Given the description of an element on the screen output the (x, y) to click on. 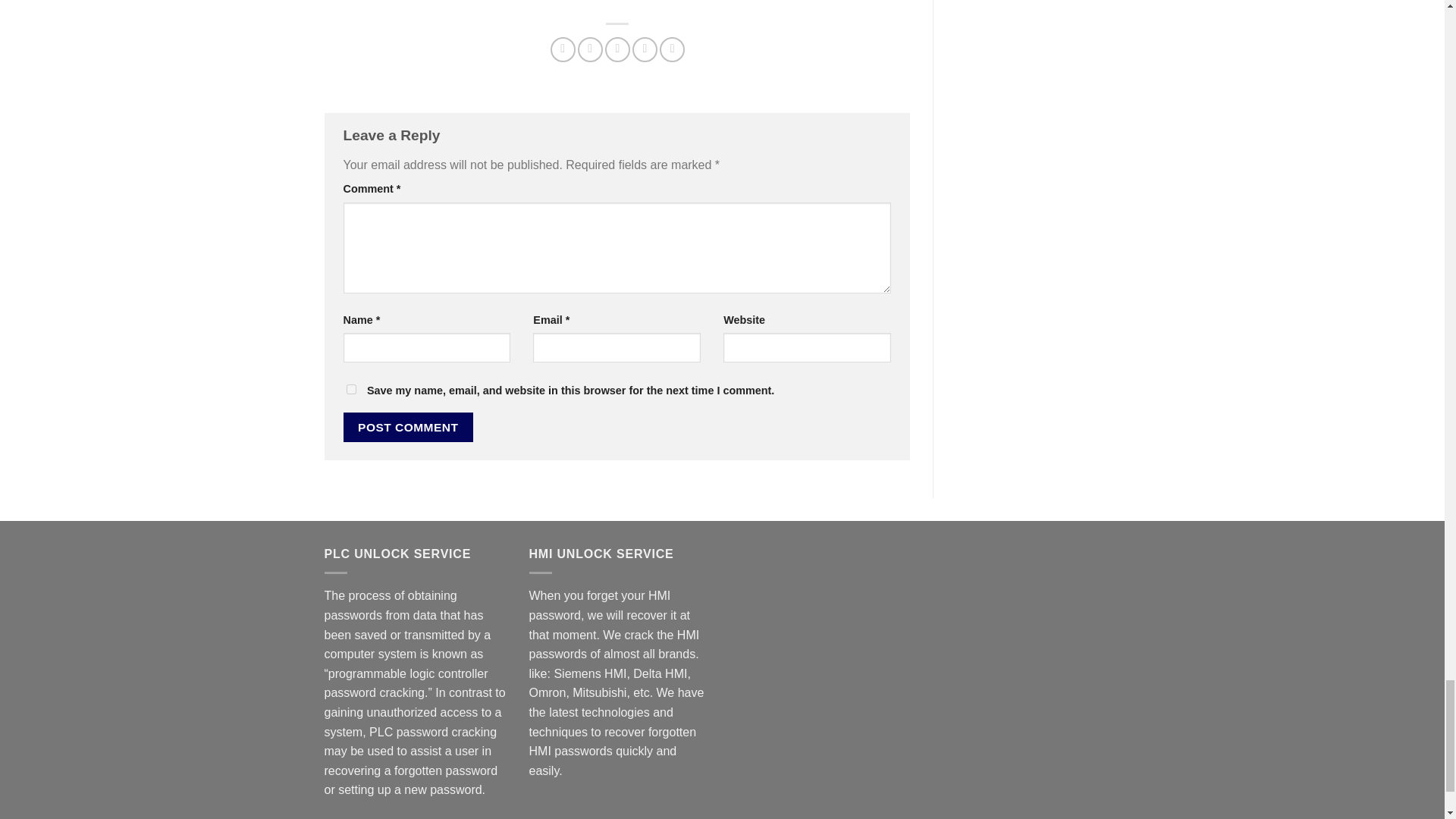
yes (350, 388)
Pin on Pinterest (644, 49)
Post Comment (407, 427)
Email to a Friend (617, 49)
Share on LinkedIn (671, 49)
Share on Facebook (562, 49)
Share on Twitter (590, 49)
